Given the description of an element on the screen output the (x, y) to click on. 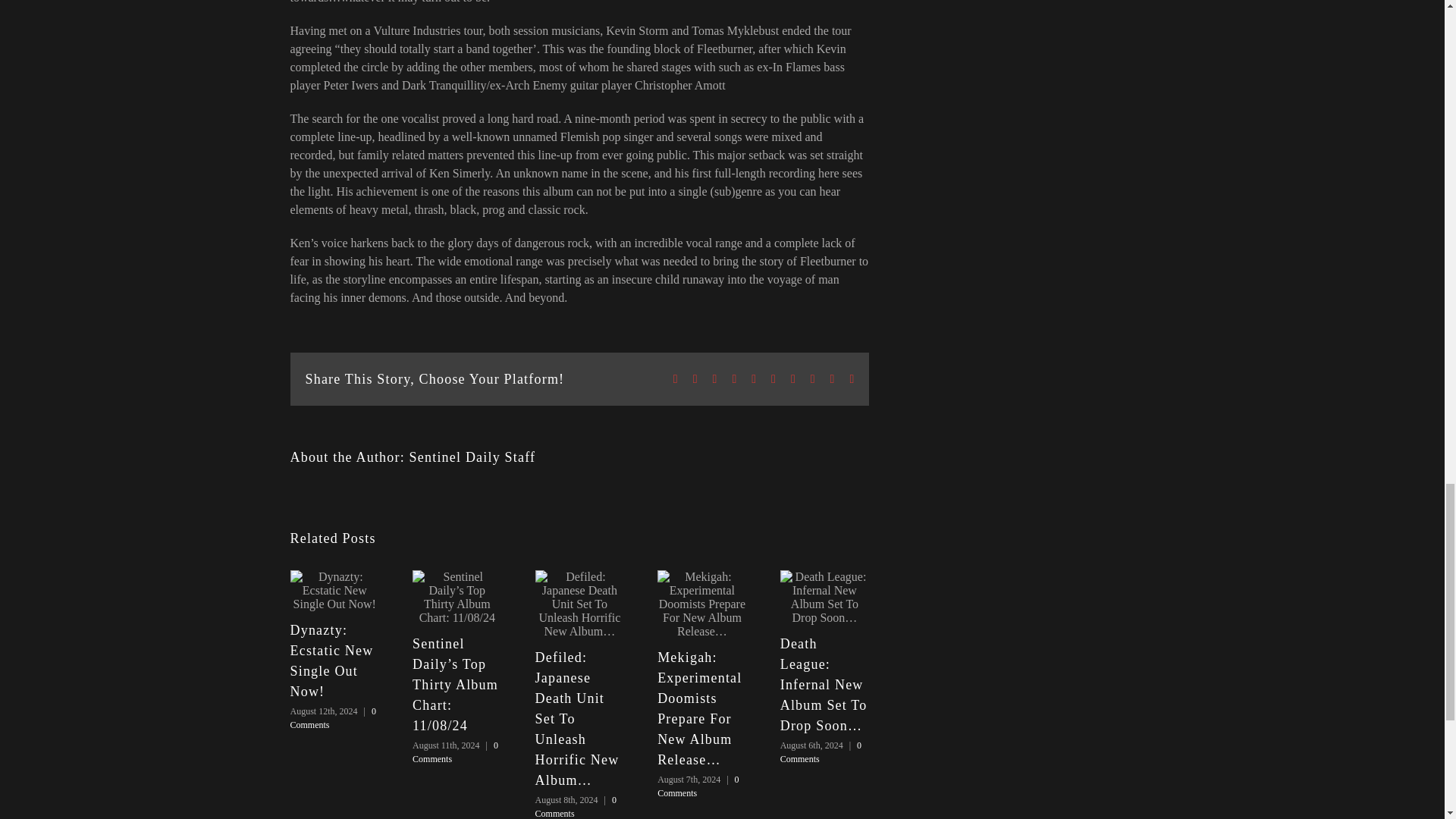
Dynazty: Ecstatic New Single Out Now! (330, 660)
Sentinel Daily Staff (472, 457)
0 Comments (332, 717)
